Given the description of an element on the screen output the (x, y) to click on. 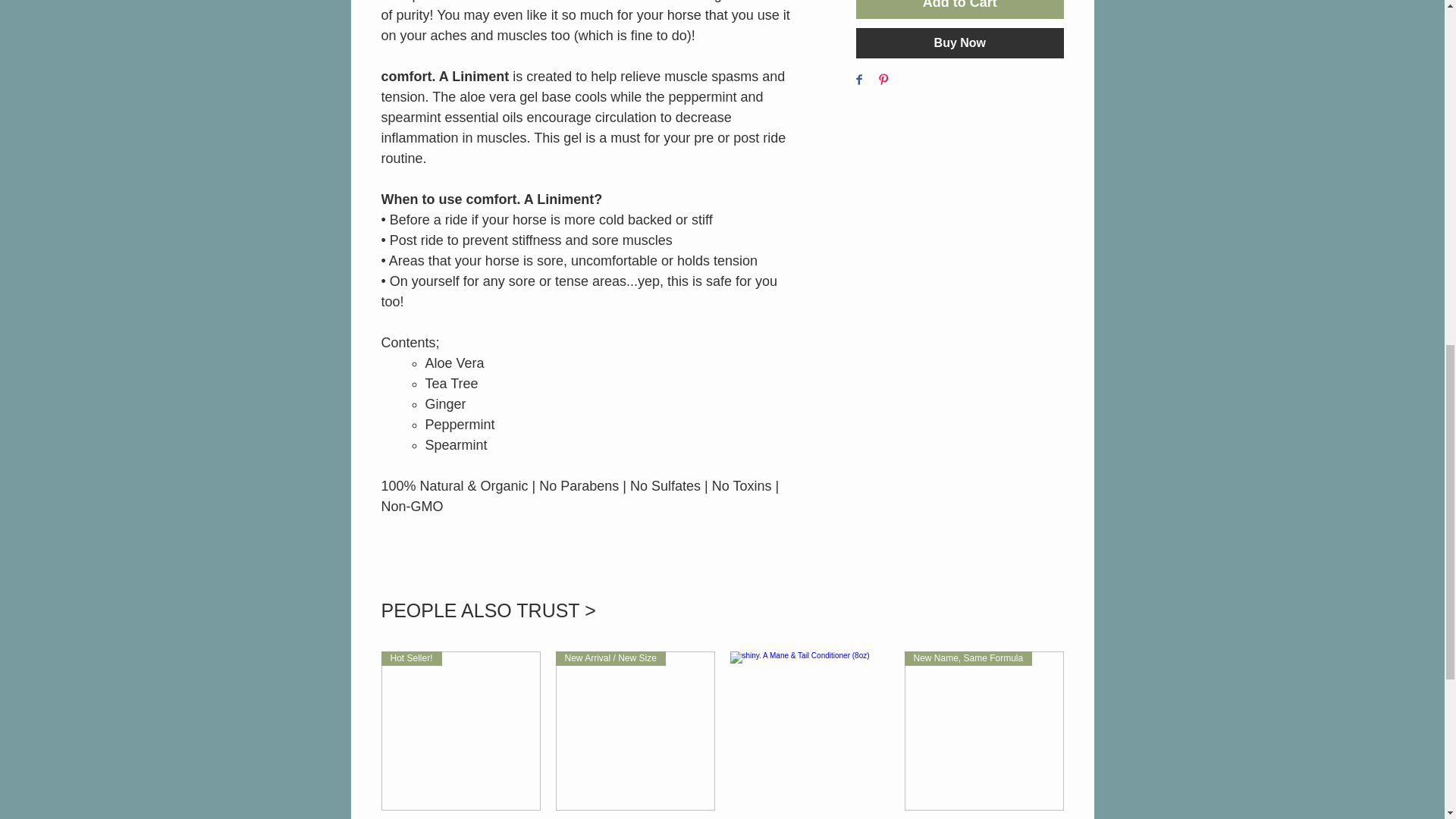
Buy Now (959, 42)
New Name, Same Formula (983, 730)
Hot Seller! (460, 730)
Add to Cart (959, 9)
